Given the description of an element on the screen output the (x, y) to click on. 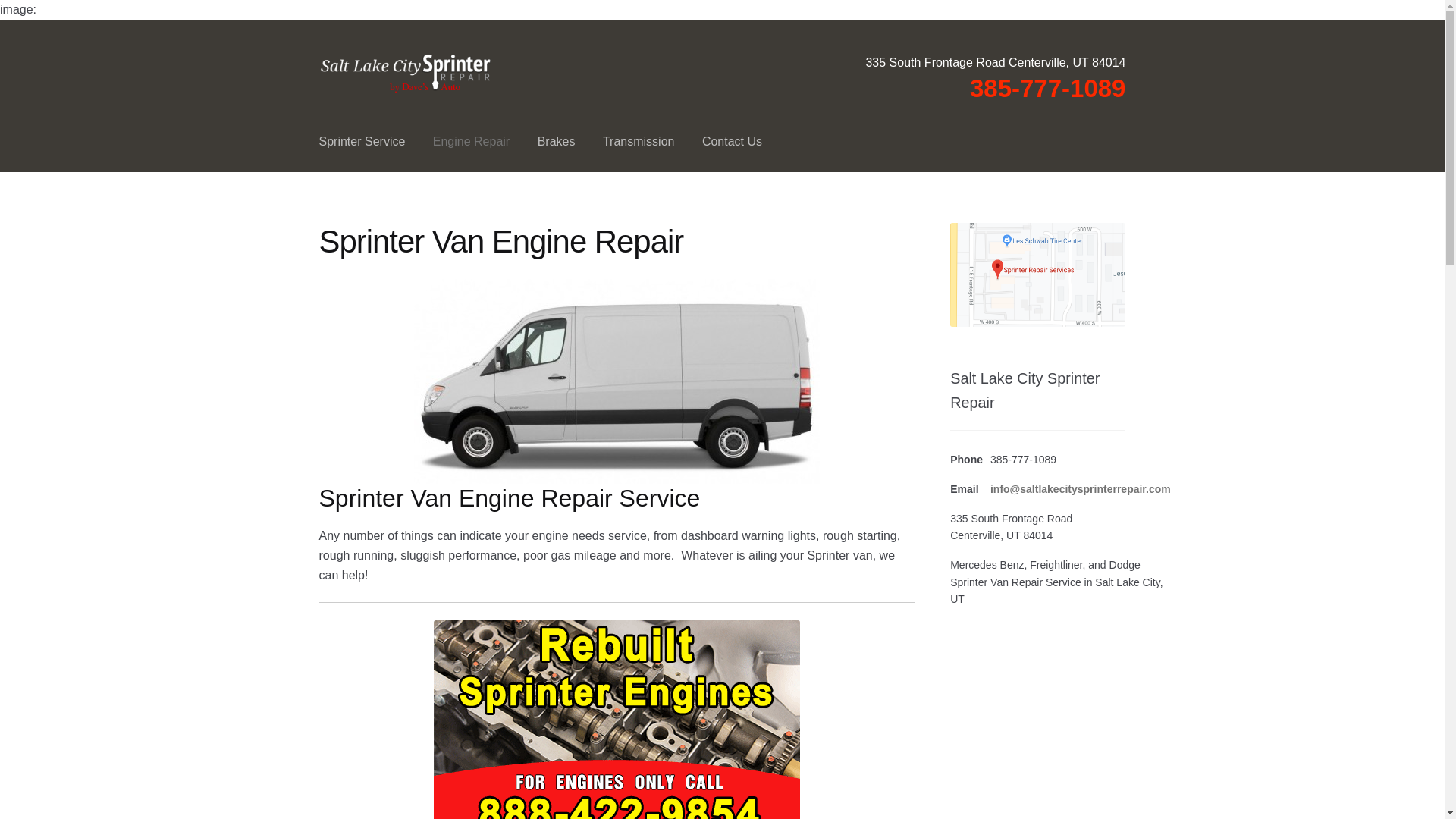
385-777-1089 (1047, 88)
Sprinter Van Engine Repair (616, 381)
Salt Lake City Sprinter Repair (405, 73)
Engine Repair (470, 141)
Brakes (556, 141)
Contact Us (732, 141)
Sprinter Service (362, 141)
Transmission (639, 141)
